Given the description of an element on the screen output the (x, y) to click on. 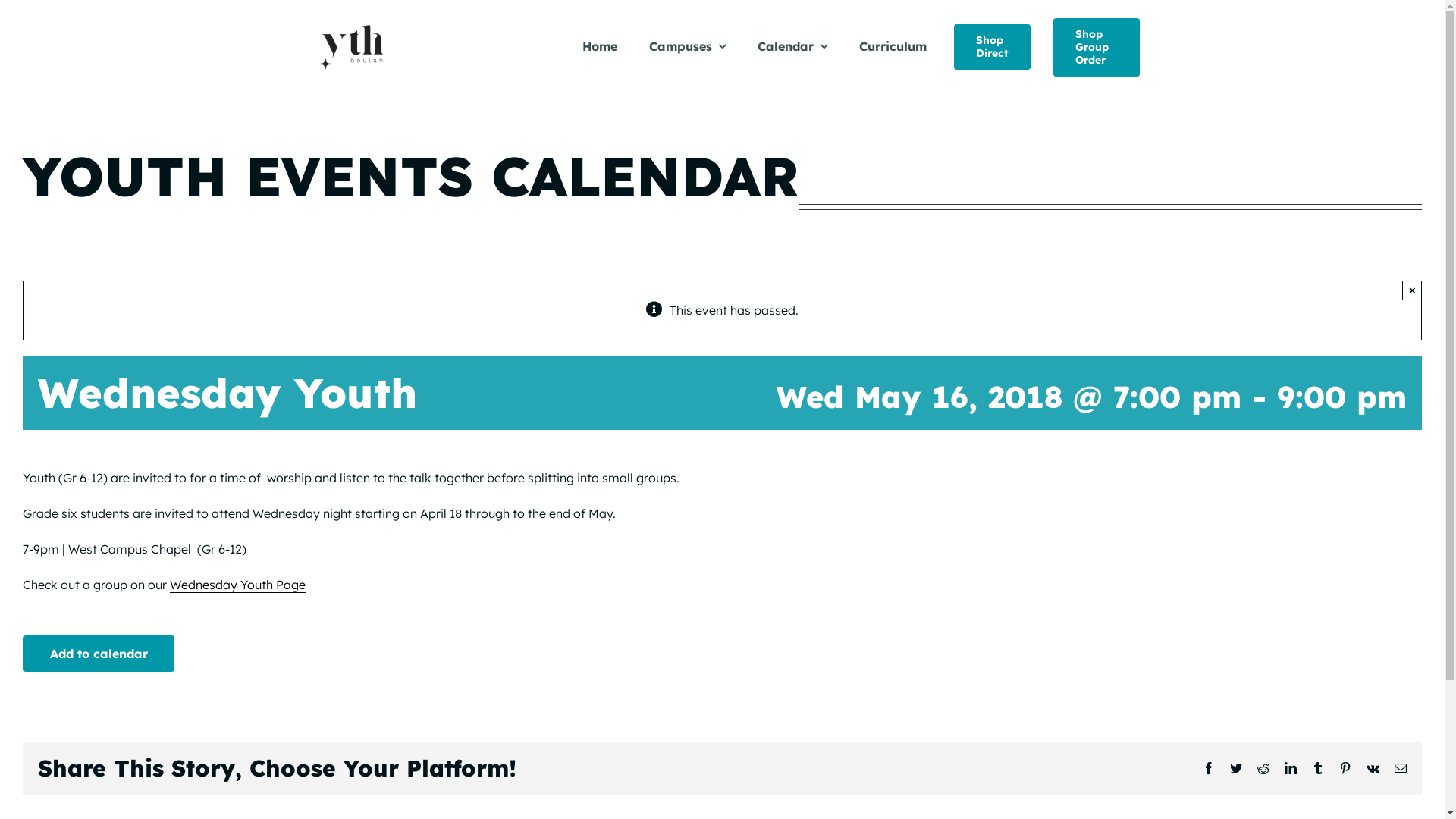
Twitter Element type: text (1236, 768)
LinkedIn Element type: text (1290, 768)
Vk Element type: text (1372, 768)
Tumblr Element type: text (1317, 768)
Shop Direct Element type: text (991, 46)
Facebook Element type: text (1208, 768)
Shop Group Order Element type: text (1096, 47)
Home Element type: text (599, 46)
Reddit Element type: text (1263, 768)
Campuses Element type: text (687, 46)
Calendar Element type: text (792, 46)
Pinterest Element type: text (1345, 768)
Curriculum Element type: text (892, 46)
Add to calendar Element type: text (98, 653)
Wednesday Youth Page Element type: text (237, 585)
Email Element type: text (1400, 768)
